Given the description of an element on the screen output the (x, y) to click on. 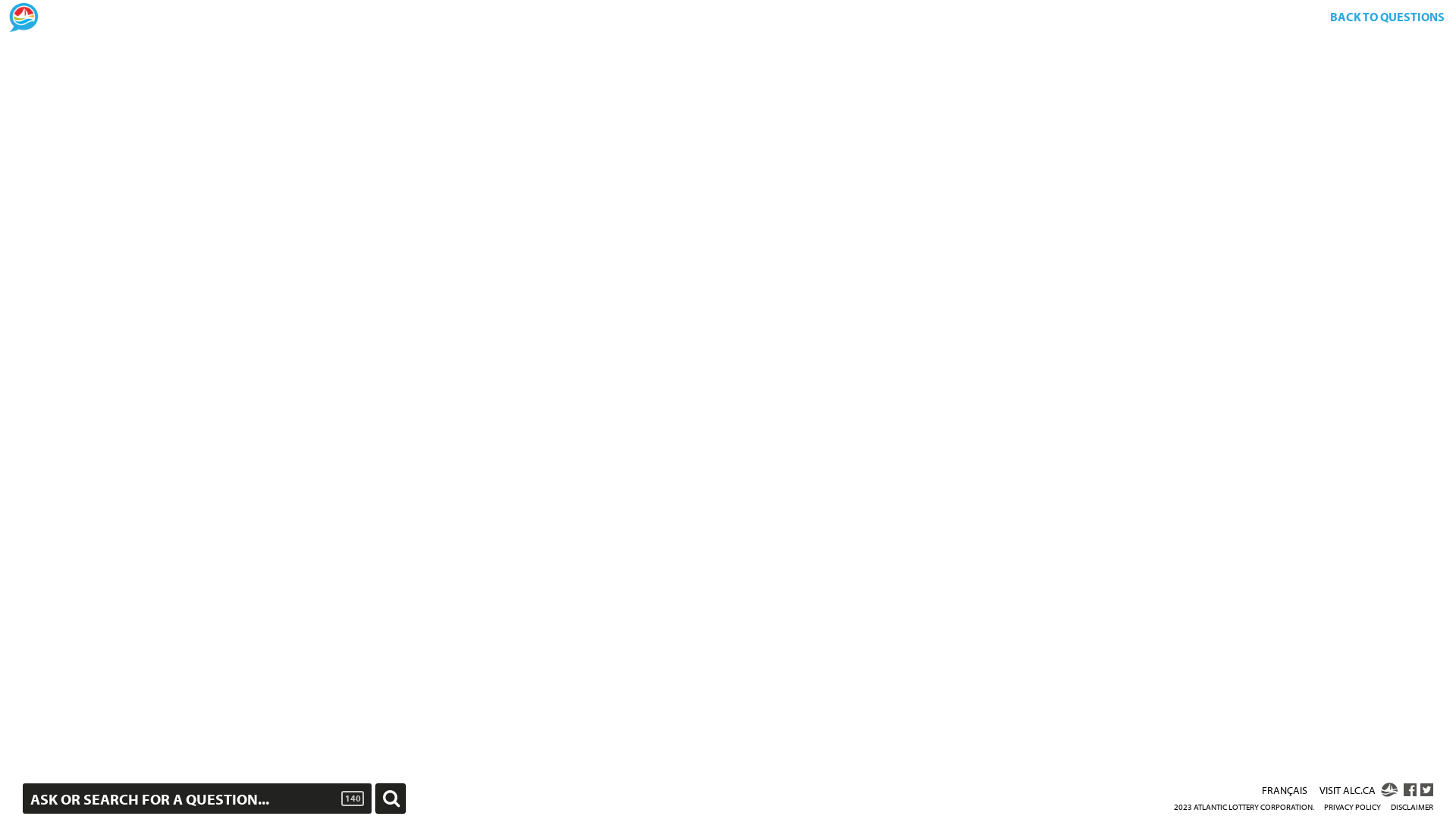
ALC FACEBOOK Element type: text (1408, 789)
PRIVACY POLICY Element type: text (1352, 806)
DISCLAIMER Element type: text (1411, 806)
Corporate Transparency page Element type: text (691, 158)
Ask Element type: text (390, 799)
ALC TWITTER Element type: text (1426, 789)
ALC.CA Element type: hover (1388, 789)
BACK TO QUESTIONS Element type: text (1386, 16)
VISIT ALC.CA Element type: text (1358, 791)
Home Element type: hover (23, 17)
ALC Facebook Element type: hover (1408, 789)
Share on Twitter Element type: hover (1426, 789)
